Given the description of an element on the screen output the (x, y) to click on. 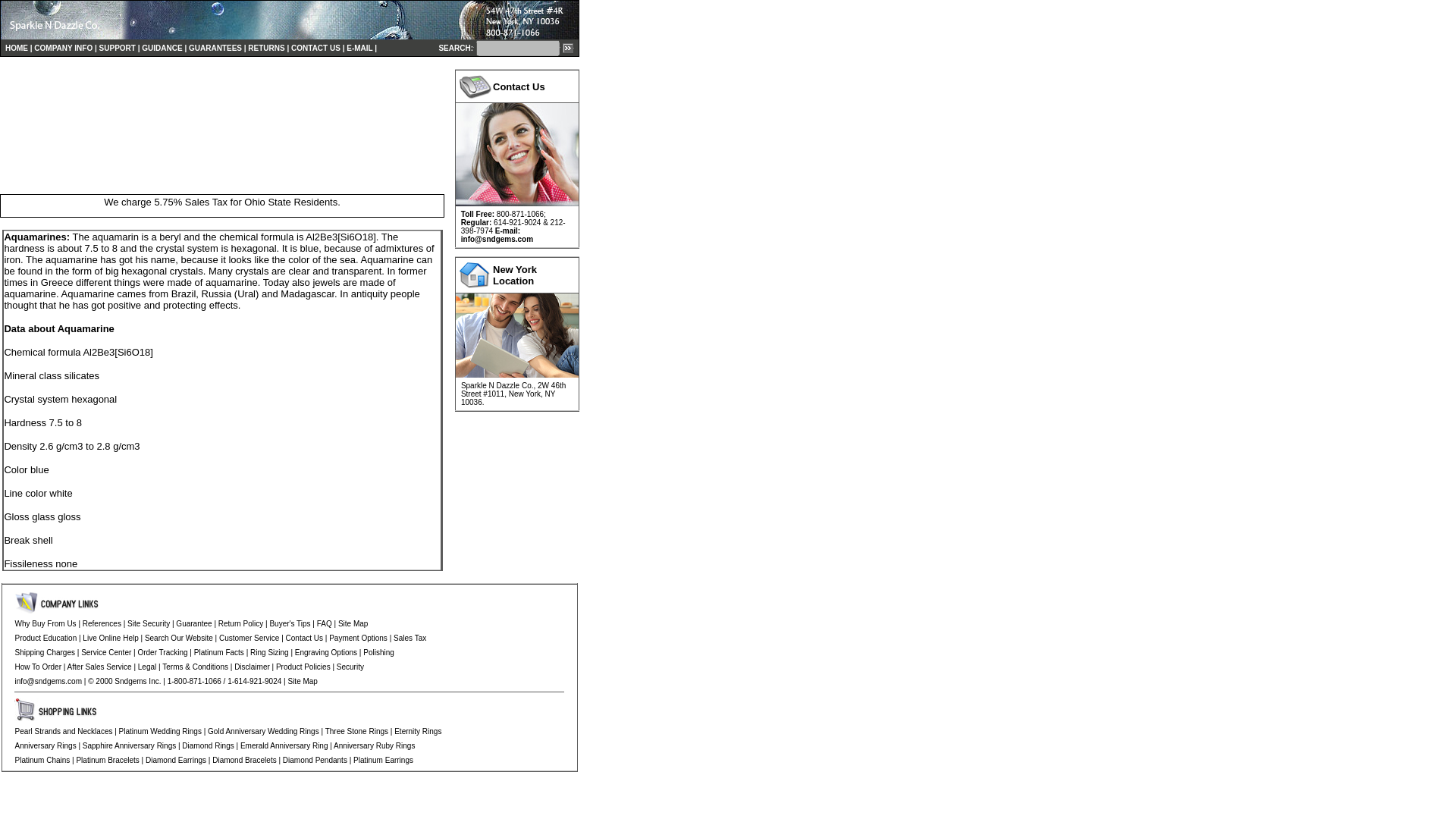
COMPANY INFO (63, 48)
Payment Options (358, 637)
Ring Sizing (269, 652)
Polishing (378, 652)
FAQ (324, 623)
Service Center (106, 652)
Guarantee (193, 623)
RETURNS (265, 45)
Return Policy (240, 623)
Order Tracking (161, 652)
